Given the description of an element on the screen output the (x, y) to click on. 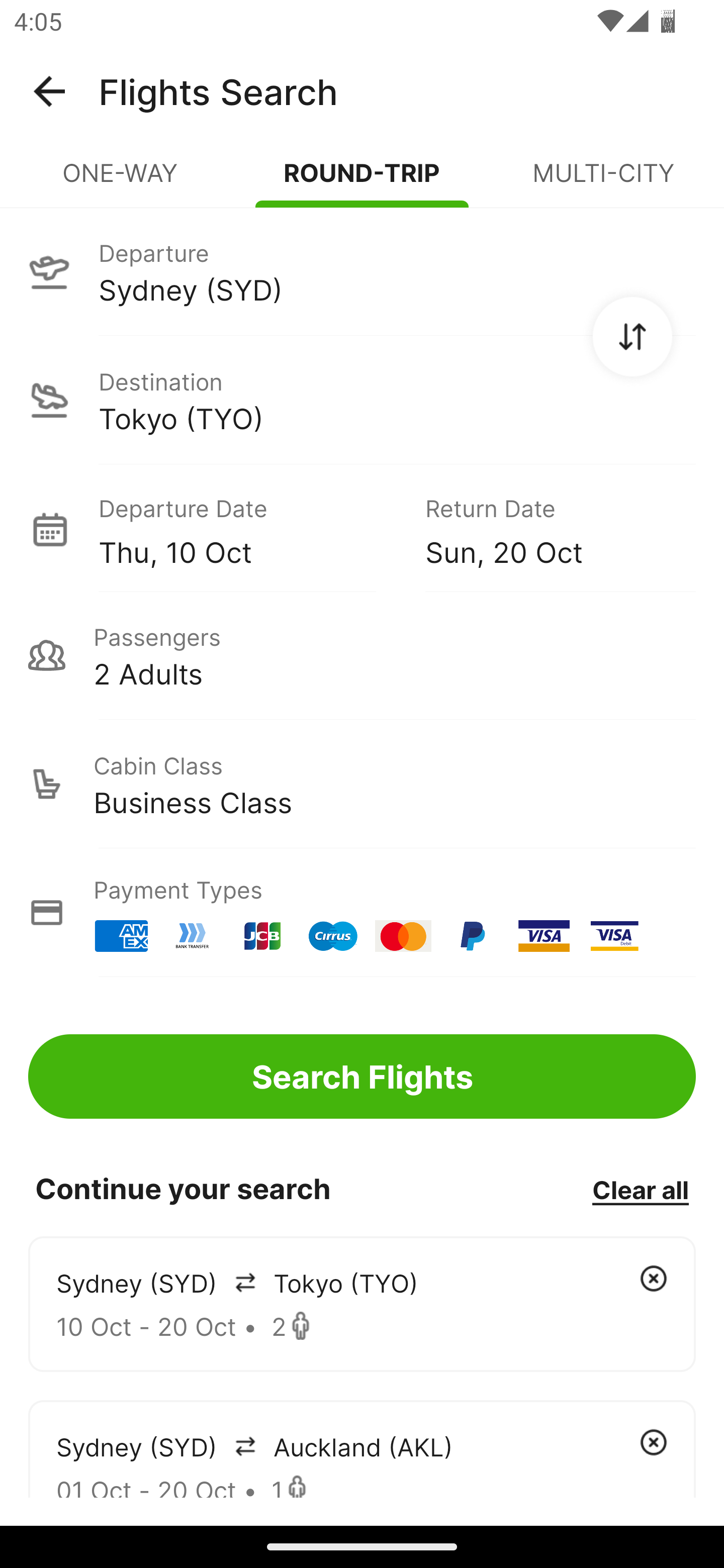
ONE-WAY (120, 180)
ROUND-TRIP (361, 180)
MULTI-CITY (603, 180)
Departure Sydney (SYD) (362, 270)
Destination Tokyo (TYO) (362, 400)
Departure Date Thu, 10 Oct (247, 528)
Return Date Sun, 20 Oct (546, 528)
Passengers 2 Adults (362, 655)
Cabin Class Business Class (362, 783)
Payment Types (362, 912)
Search Flights (361, 1075)
Clear all (640, 1189)
